Given the description of an element on the screen output the (x, y) to click on. 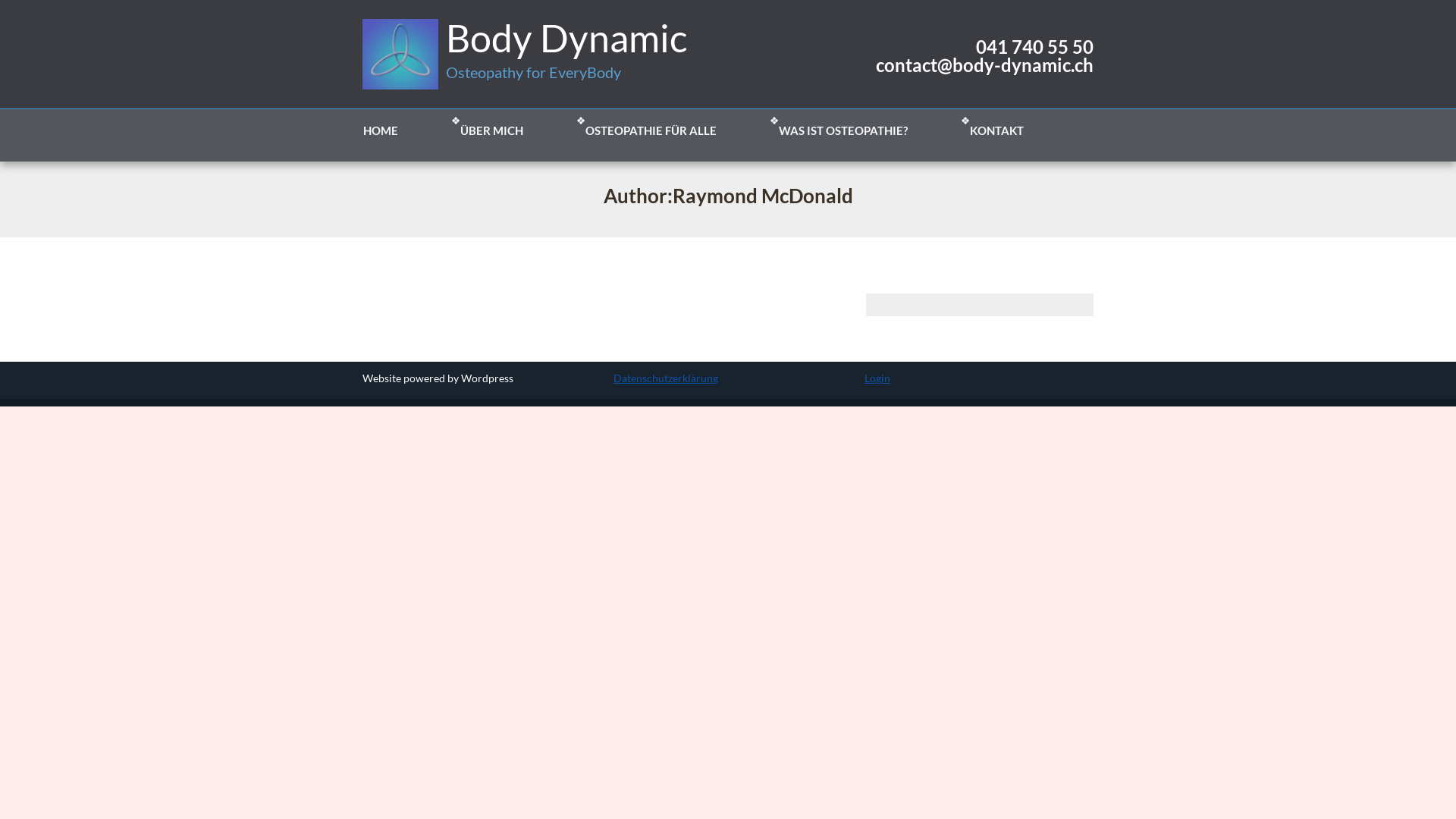
L Element type: text (866, 377)
in Element type: text (885, 377)
041 740 55 50
contact@body-dynamic.ch Element type: text (979, 55)
KONTAKT Element type: text (996, 130)
HOME Element type: text (380, 130)
WAS IST OSTEOPATHIE? Element type: text (843, 130)
og Element type: text (875, 377)
Body Dynamic Element type: text (562, 37)
